Given the description of an element on the screen output the (x, y) to click on. 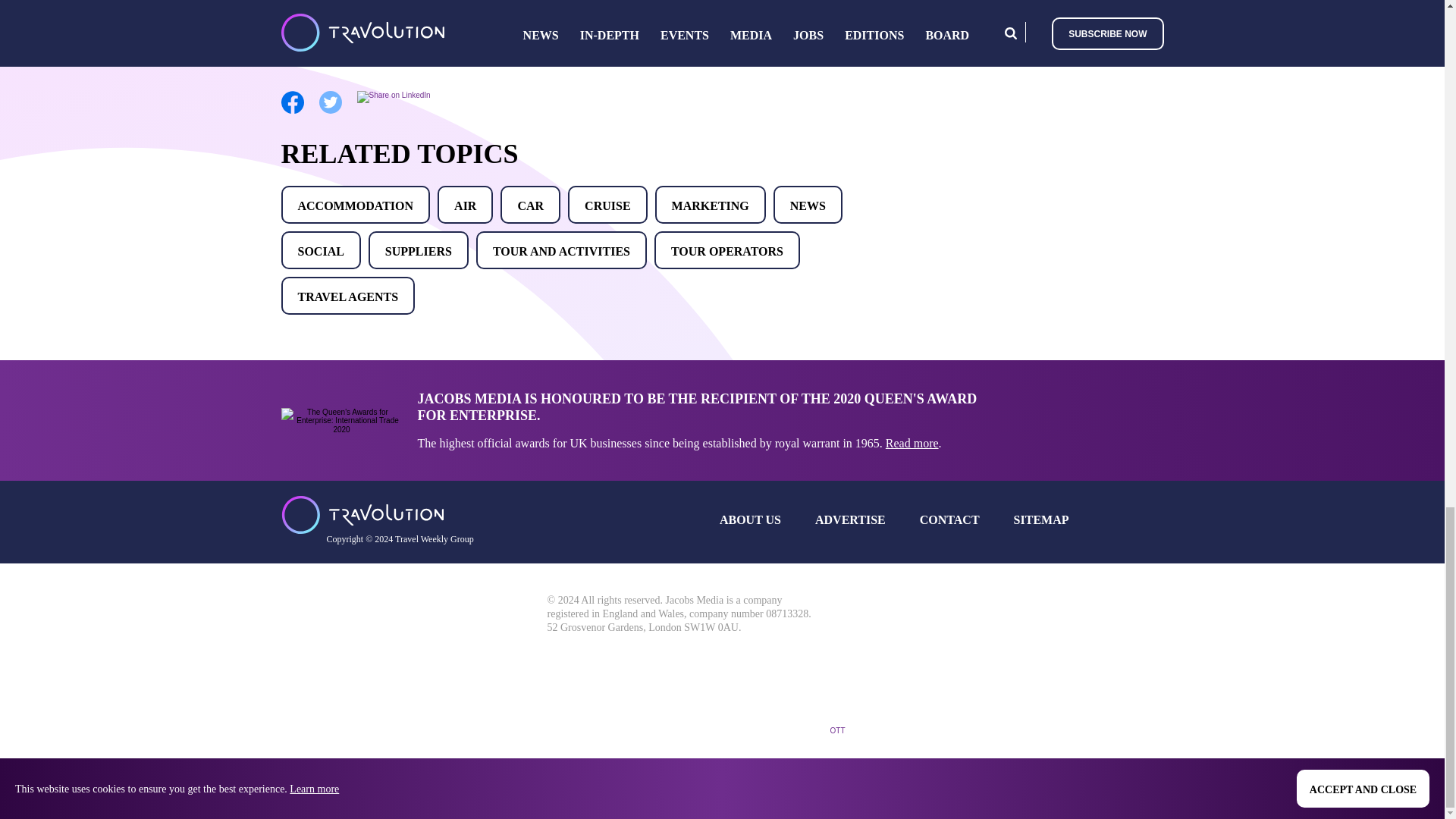
Share on Facebook (291, 111)
ACCOMMODATION (355, 204)
AIR (465, 204)
Share on Twitter (329, 111)
Share on LinkedIn (392, 94)
